Given the description of an element on the screen output the (x, y) to click on. 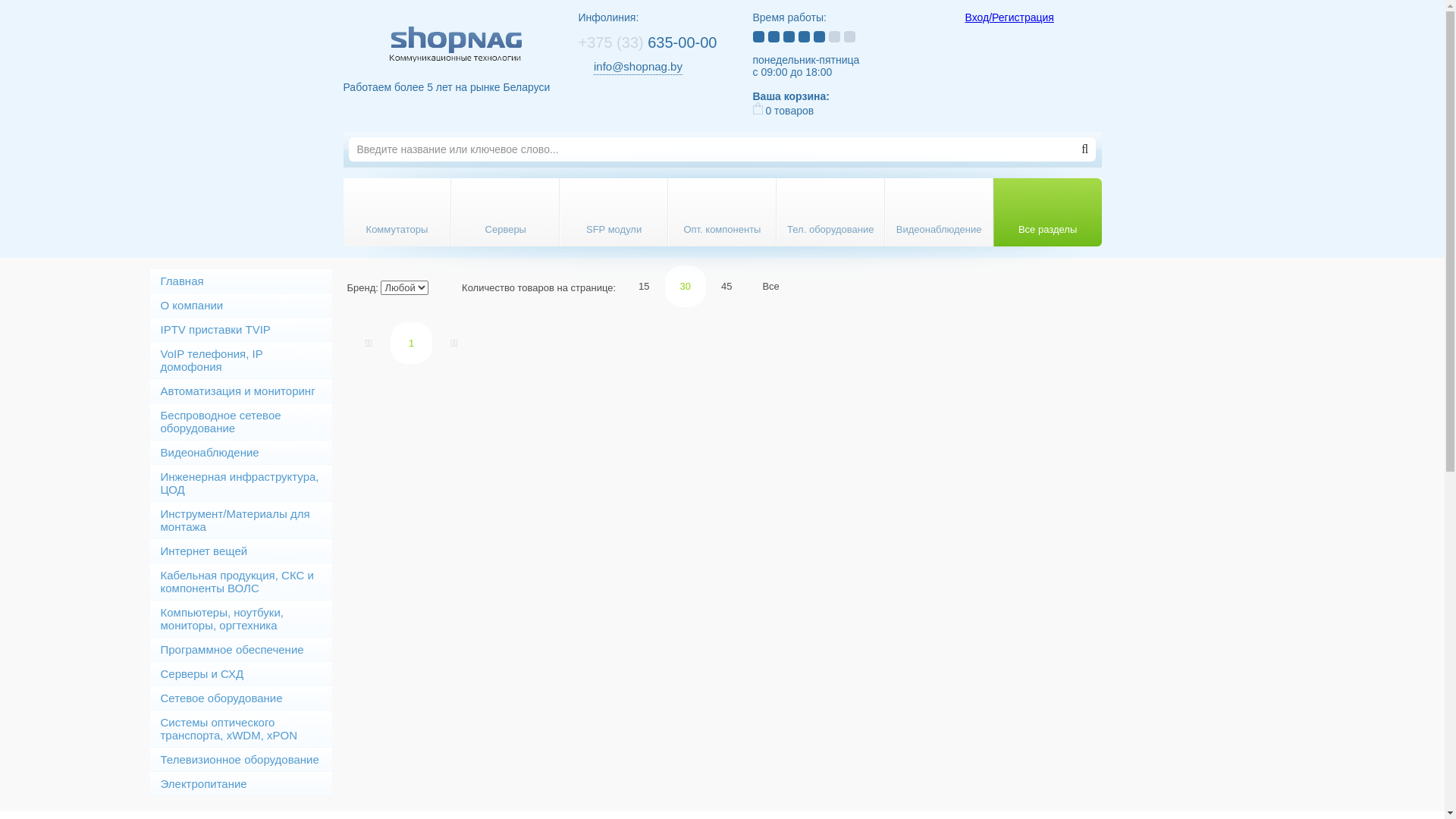
30 Element type: text (685, 286)
1 Element type: text (411, 343)
45 Element type: text (726, 286)
info@shopnag.by Element type: text (637, 67)
15 Element type: text (643, 286)
